Given the description of an element on the screen output the (x, y) to click on. 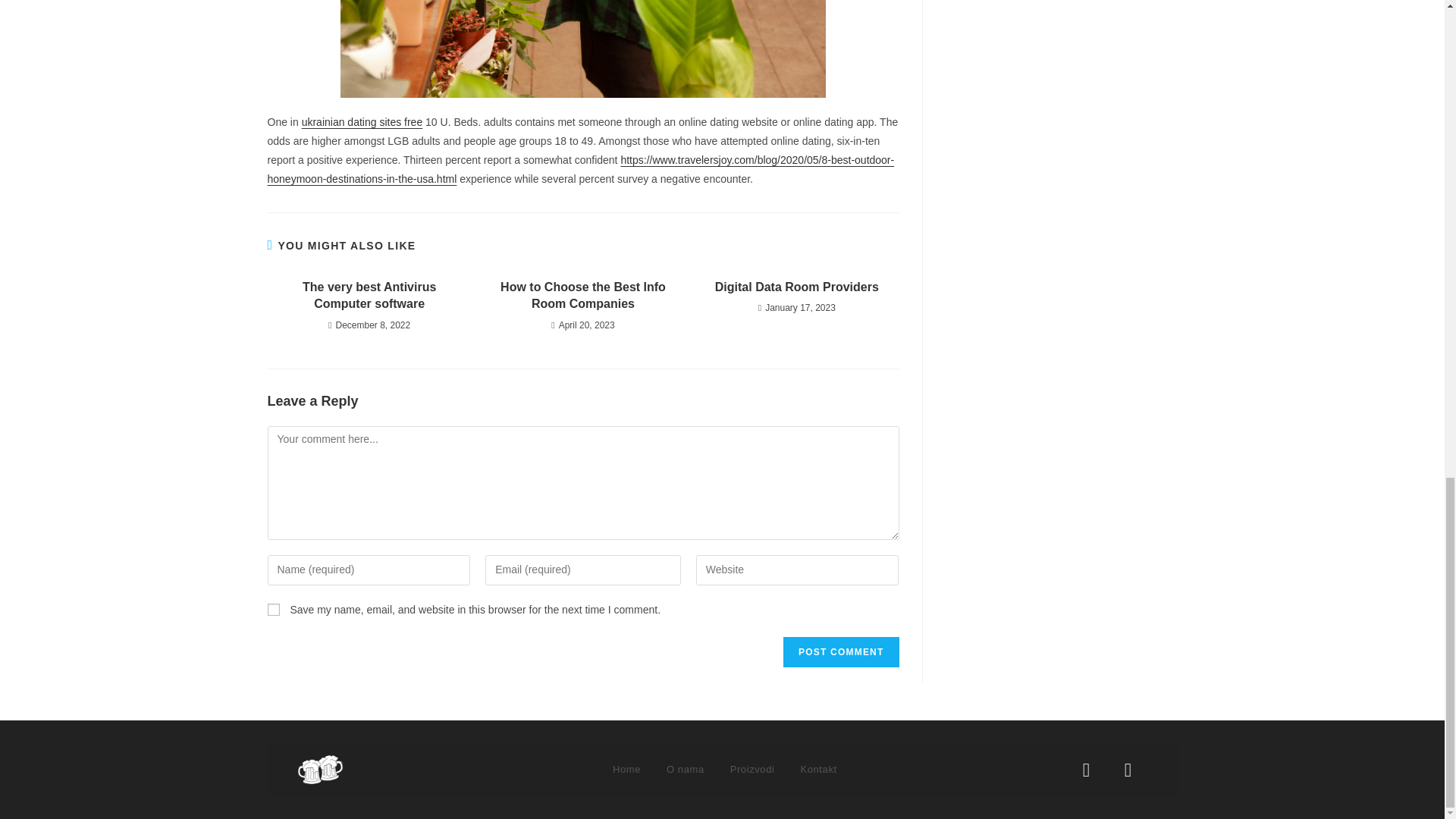
Post Comment (840, 652)
Home (626, 768)
Digital Data Room Providers (796, 287)
How to Choose the Best Info Room Companies (582, 295)
Digital Data Room Providers (796, 287)
The very best Antivirus Computer software (368, 295)
How to Choose the Best Info Room Companies (582, 295)
ukrainian dating sites free (362, 121)
O nama (685, 768)
Post Comment (840, 652)
The very best Antivirus Computer software (368, 295)
yes (272, 609)
Proizvodi (752, 768)
Kontakt (818, 768)
